Given the description of an element on the screen output the (x, y) to click on. 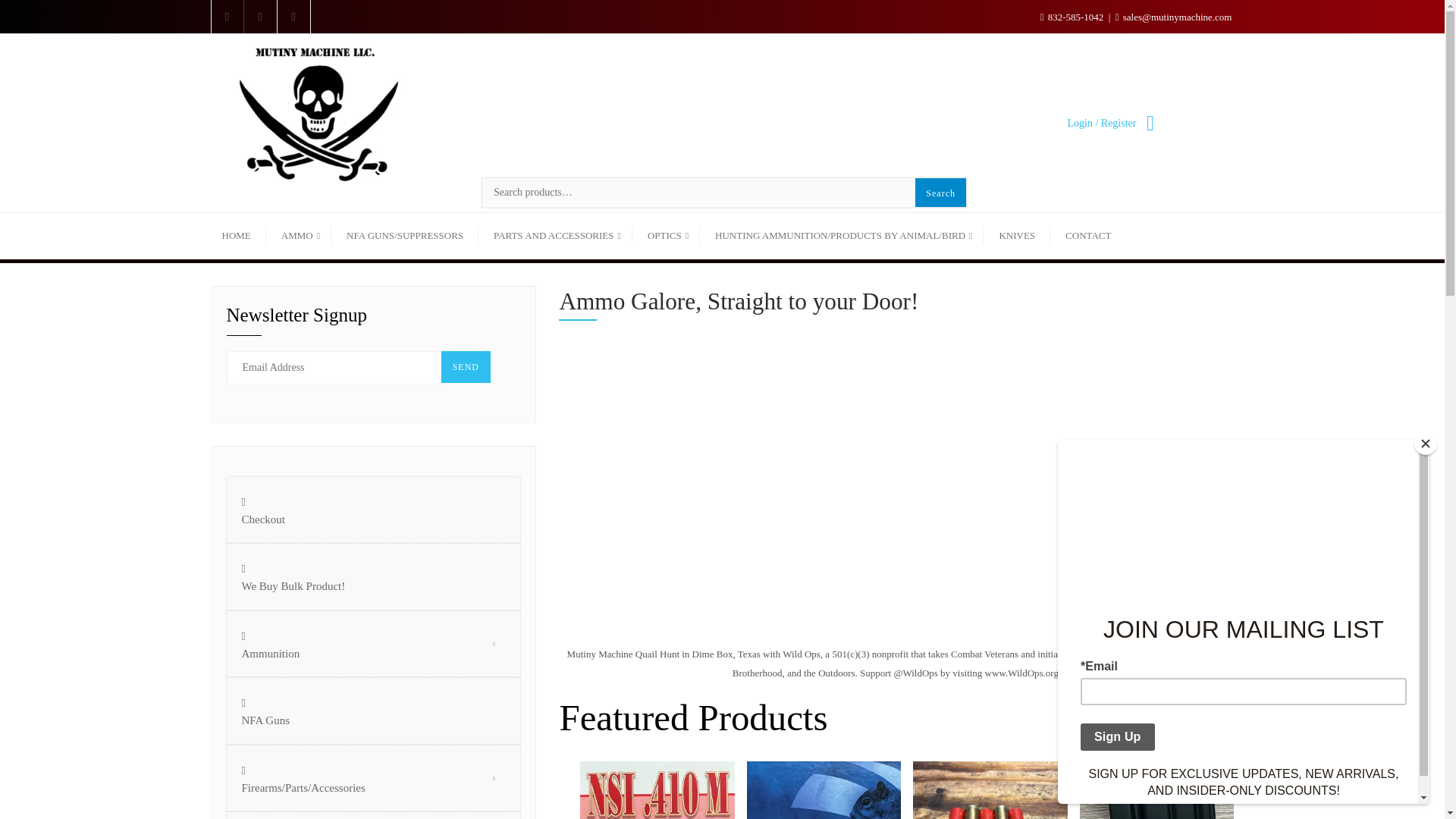
Mutiny Machine Quail Hunt (801, 490)
Send (465, 367)
Search (940, 193)
HOME (242, 235)
832-585-1042 (1073, 16)
View your shopping cart (1147, 122)
AMMO (298, 235)
